Given the description of an element on the screen output the (x, y) to click on. 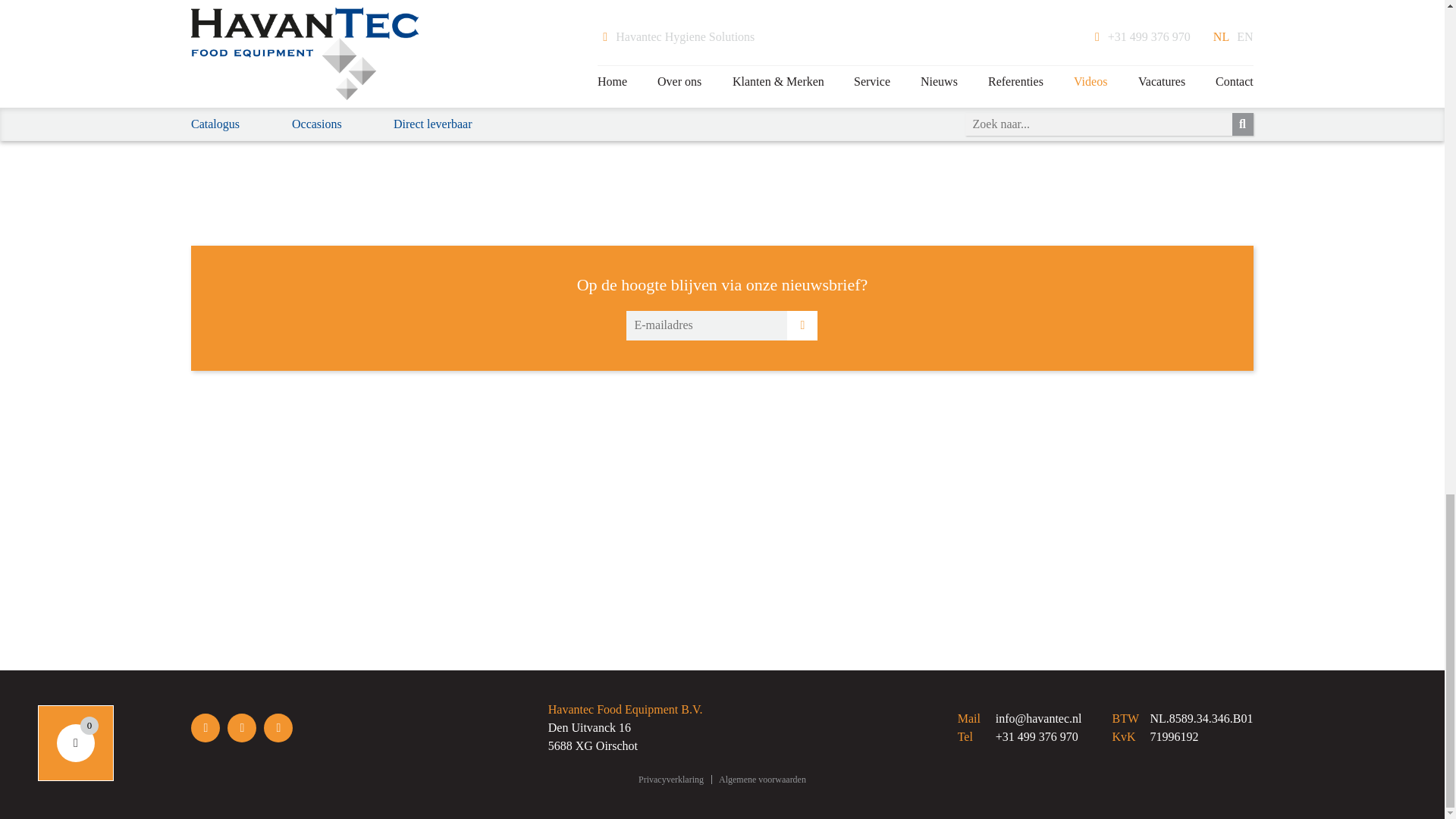
Privacyverklaring (671, 779)
Algemene voorwaarden (762, 779)
